Given the description of an element on the screen output the (x, y) to click on. 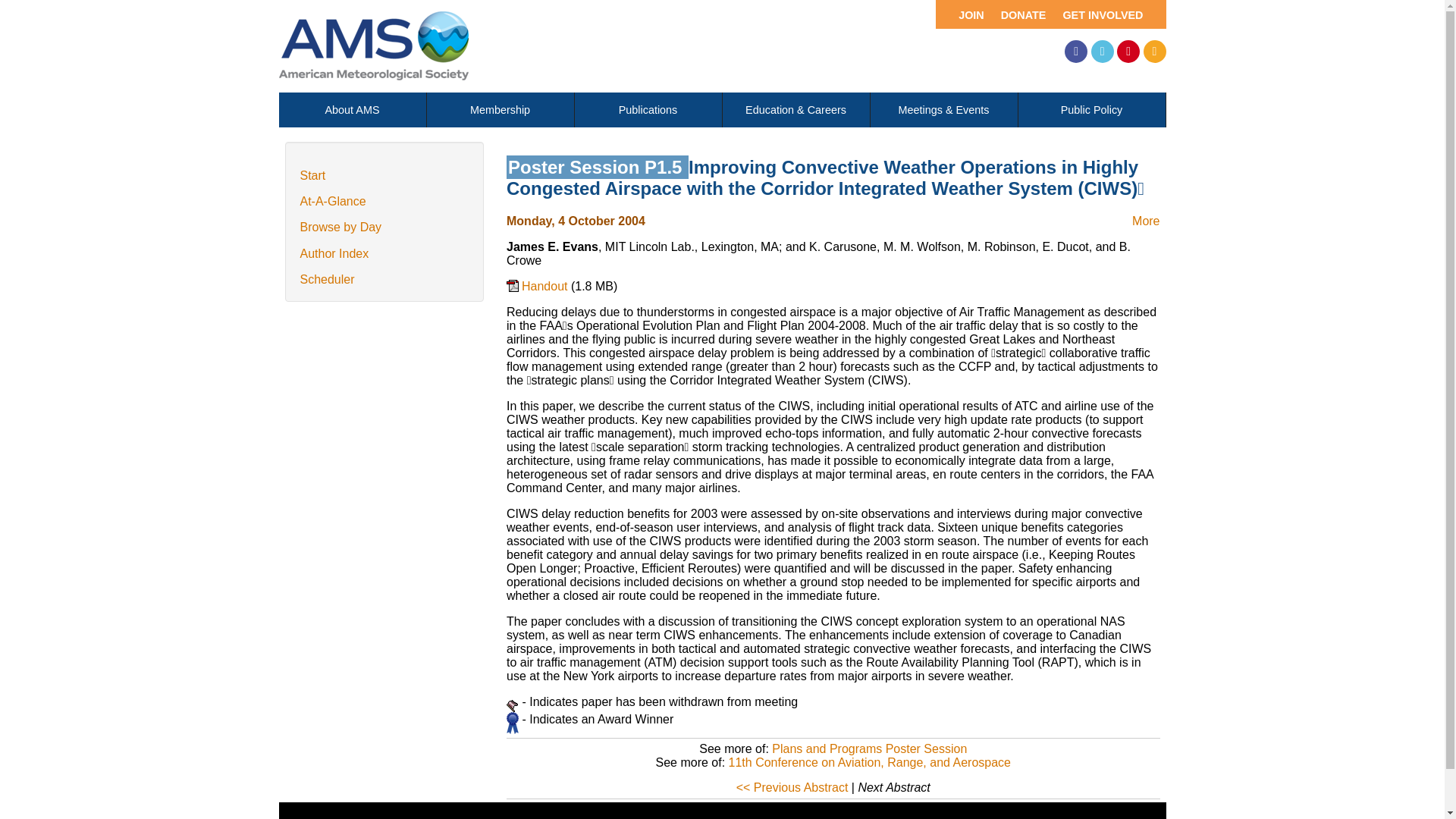
Author Index (334, 253)
RSS (1154, 51)
Twitter (1101, 51)
More (1145, 220)
YouTube (1128, 51)
Public Policy (1090, 109)
GET INVOLVED (1108, 14)
Scheduler (327, 278)
At-A-Glance (332, 201)
Plans and Programs Poster Session (868, 748)
JOIN (963, 14)
Start (312, 174)
Browse by Day (340, 226)
DONATE (1020, 14)
Handout (538, 293)
